Given the description of an element on the screen output the (x, y) to click on. 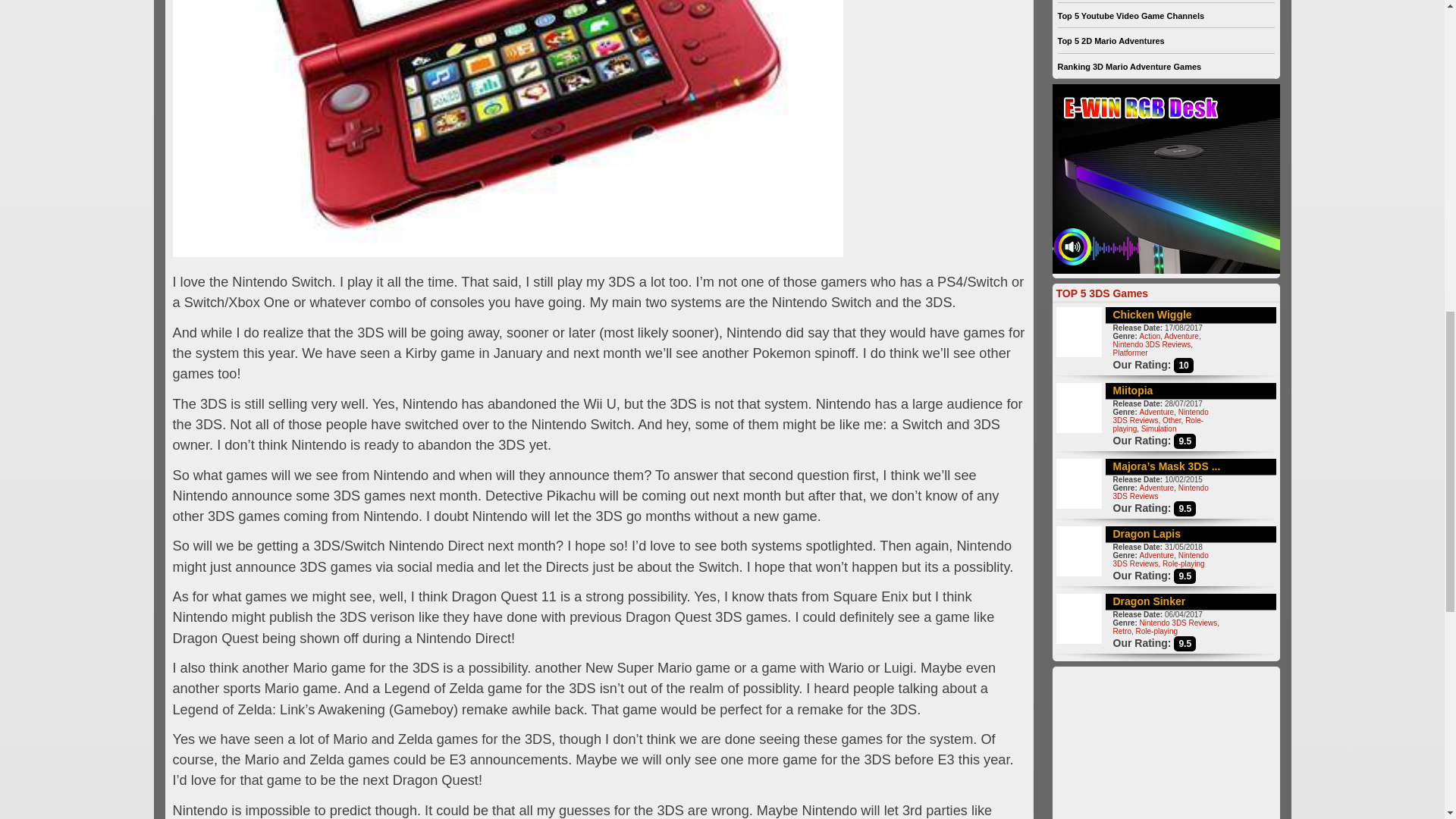
Chicken Wiggle Review (1152, 314)
Miitopia Review (1133, 390)
Dragon Lapis Review (1146, 533)
Dragon Sinker Review (1149, 601)
Advertisement (1165, 742)
